Given the description of an element on the screen output the (x, y) to click on. 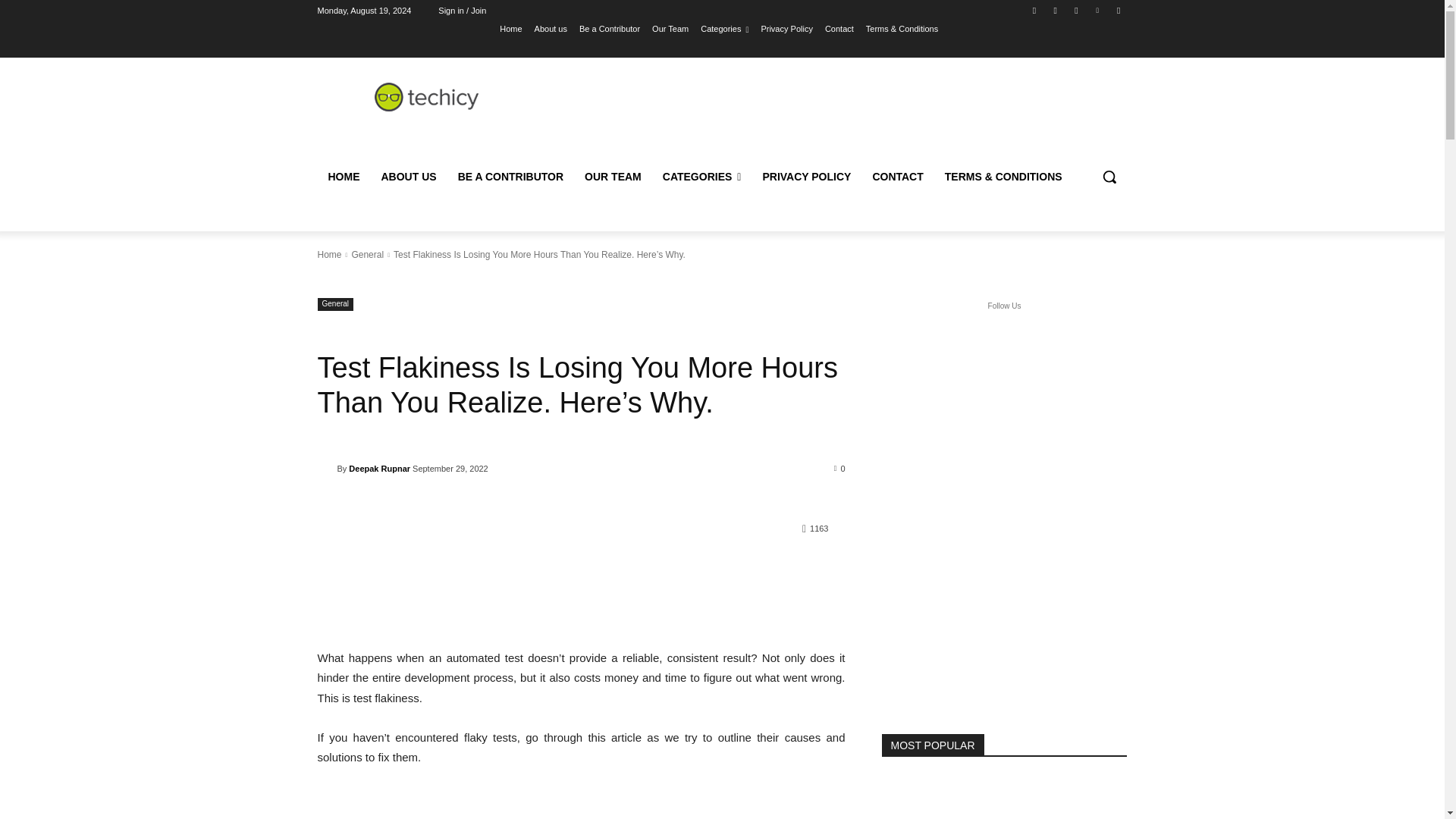
Privacy Policy (786, 28)
Home (510, 28)
Vimeo (1097, 9)
Our Team (670, 28)
Facebook (1034, 9)
Twitter (1075, 9)
About us (550, 28)
Be a Contributor (609, 28)
Youtube (1117, 9)
Categories (724, 28)
